Given the description of an element on the screen output the (x, y) to click on. 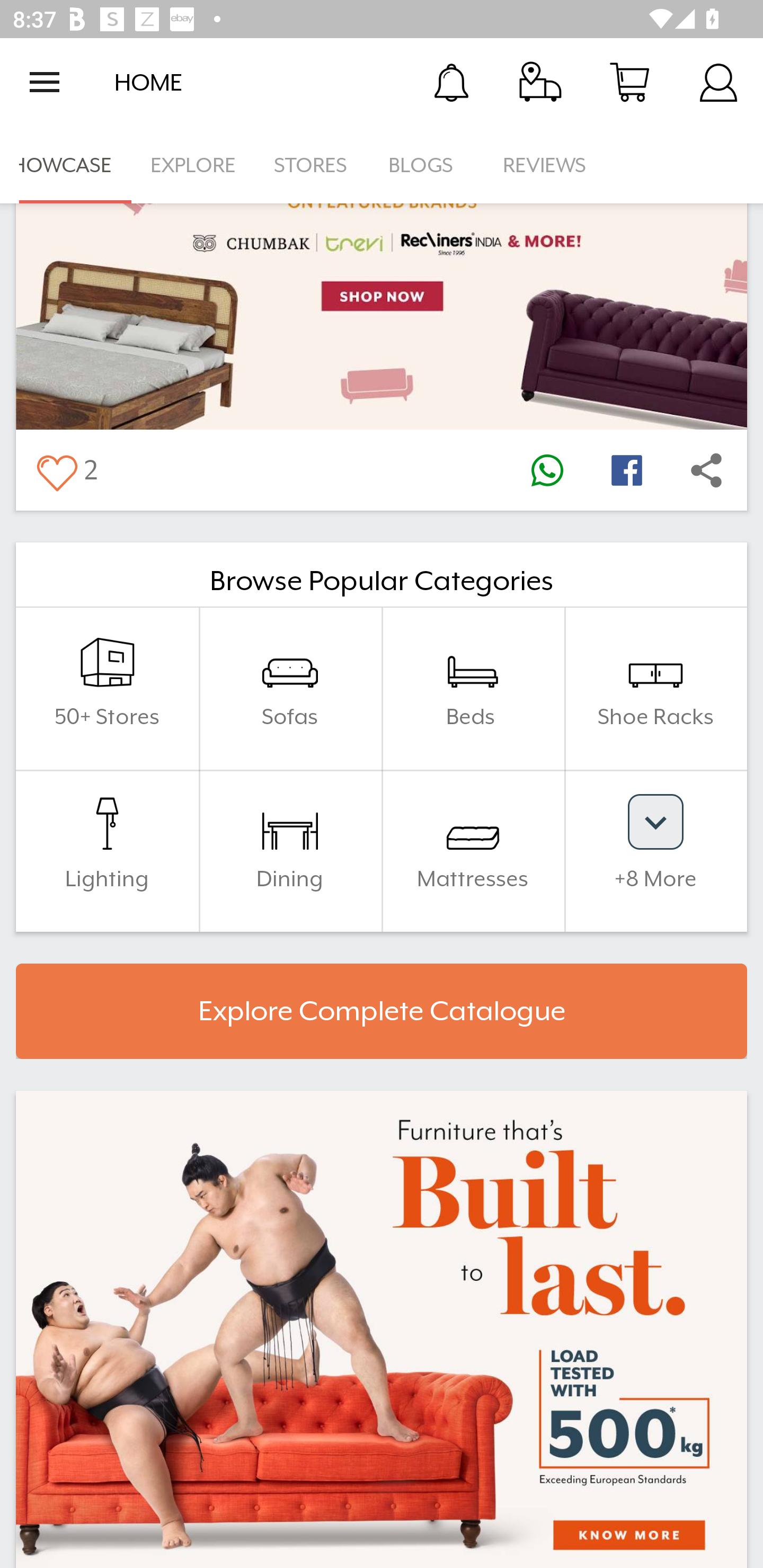
Open navigation drawer (44, 82)
Notification (450, 81)
Track Order (540, 81)
Cart (629, 81)
Account Details (718, 81)
SHOWCASE (65, 165)
EXPLORE (192, 165)
STORES (311, 165)
BLOGS (426, 165)
REVIEWS (544, 165)
 (55, 470)
 (547, 470)
 (626, 470)
 (706, 470)
50+ Stores (106, 688)
Sofas (289, 688)
Beds  (473, 688)
Shoe Racks (655, 688)
Lighting (106, 850)
Dining (289, 850)
Mattresses (473, 850)
 +8 More (655, 850)
Explore Complete Catalogue (381, 1011)
